Given the description of an element on the screen output the (x, y) to click on. 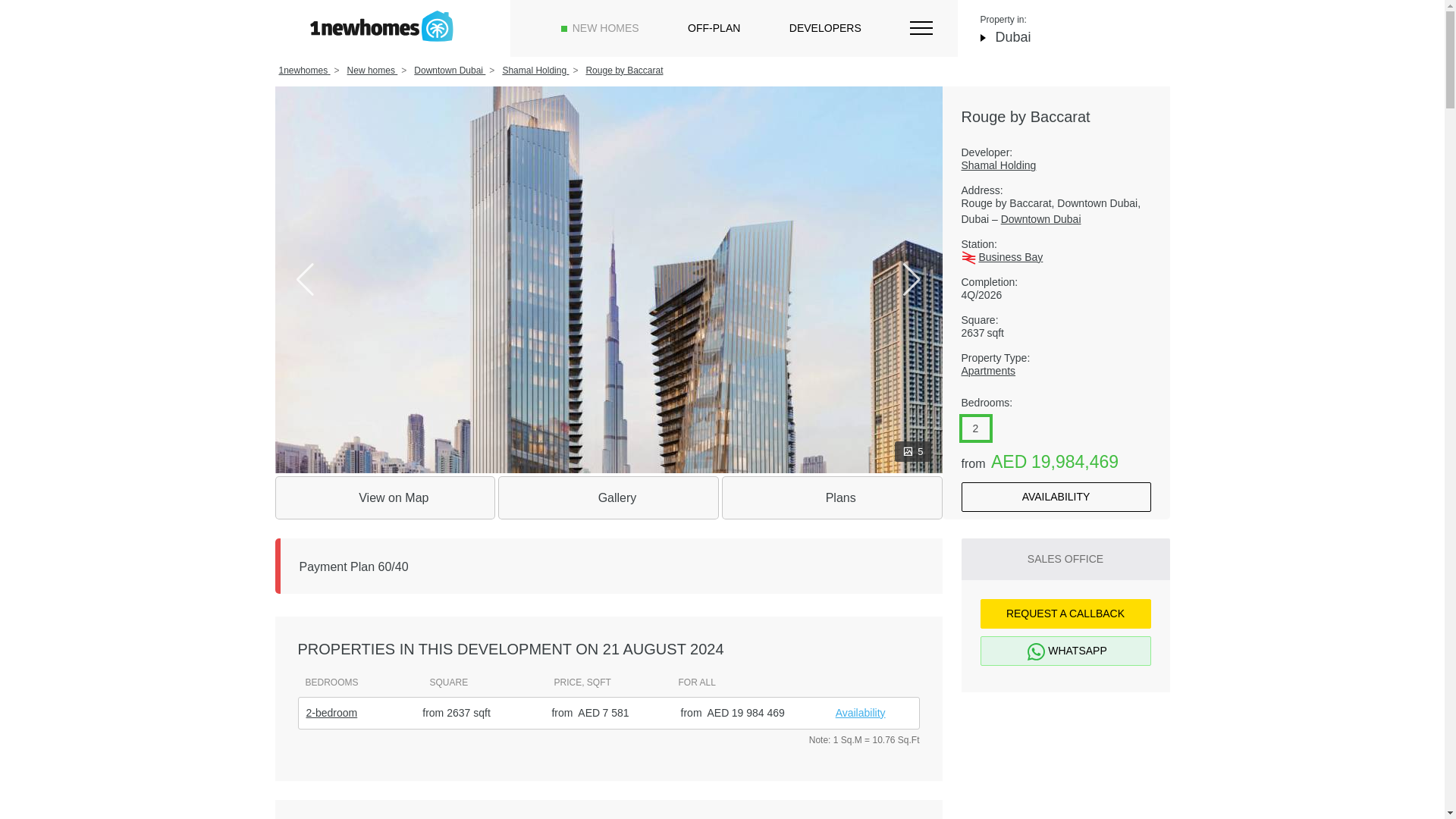
1newhomes (304, 70)
Gallery (608, 497)
NEW HOMES (605, 28)
Shamal Holding (1055, 165)
DEVELOPERS (825, 28)
Plans (832, 497)
Rouge by Baccarat (623, 70)
2 (975, 428)
New homes (372, 70)
View on Map (385, 497)
